Given the description of an element on the screen output the (x, y) to click on. 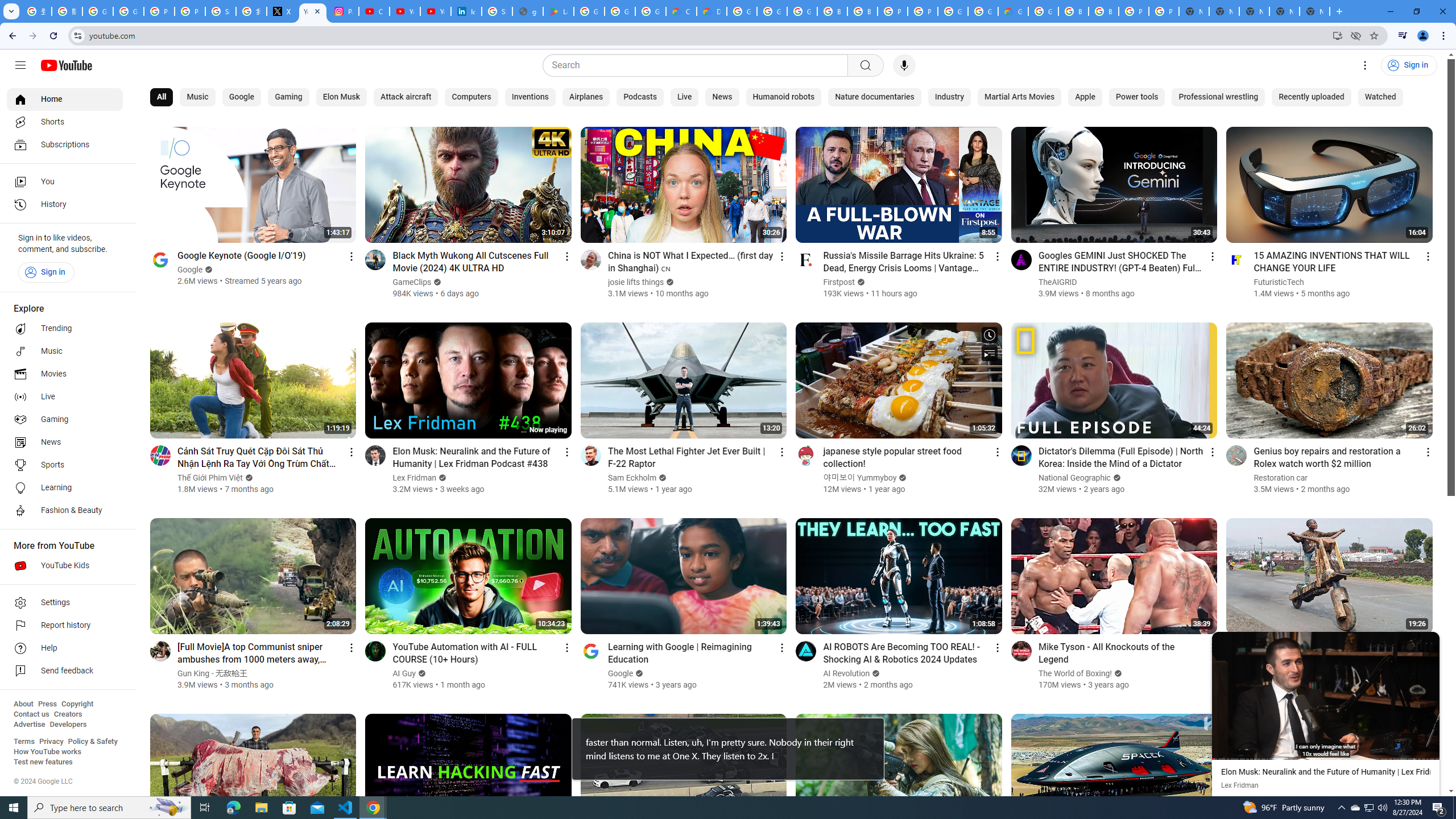
How YouTube works (47, 751)
google_privacy_policy_en.pdf (527, 11)
News (64, 441)
Music (64, 350)
Developers (68, 724)
Last Shelter: Survival - Apps on Google Play (558, 11)
YouTube - Audio playing (312, 11)
Policy & Safety (91, 741)
Fashion & Beauty (64, 510)
